Given the description of an element on the screen output the (x, y) to click on. 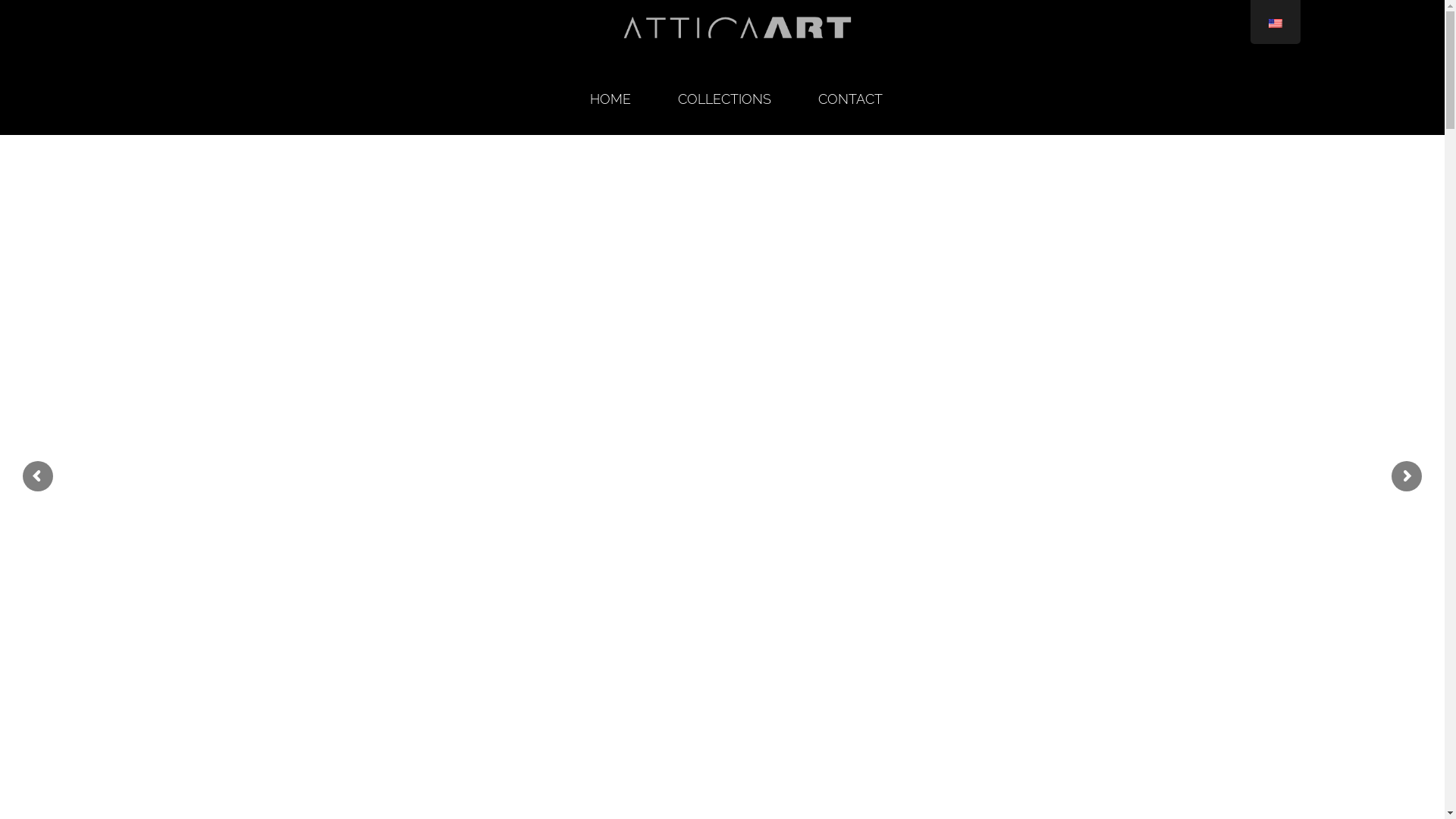
COLLECTIONS Element type: text (723, 99)
HOME Element type: text (609, 99)
English Element type: hover (1274, 23)
CONTACT Element type: text (850, 99)
